Given the description of an element on the screen output the (x, y) to click on. 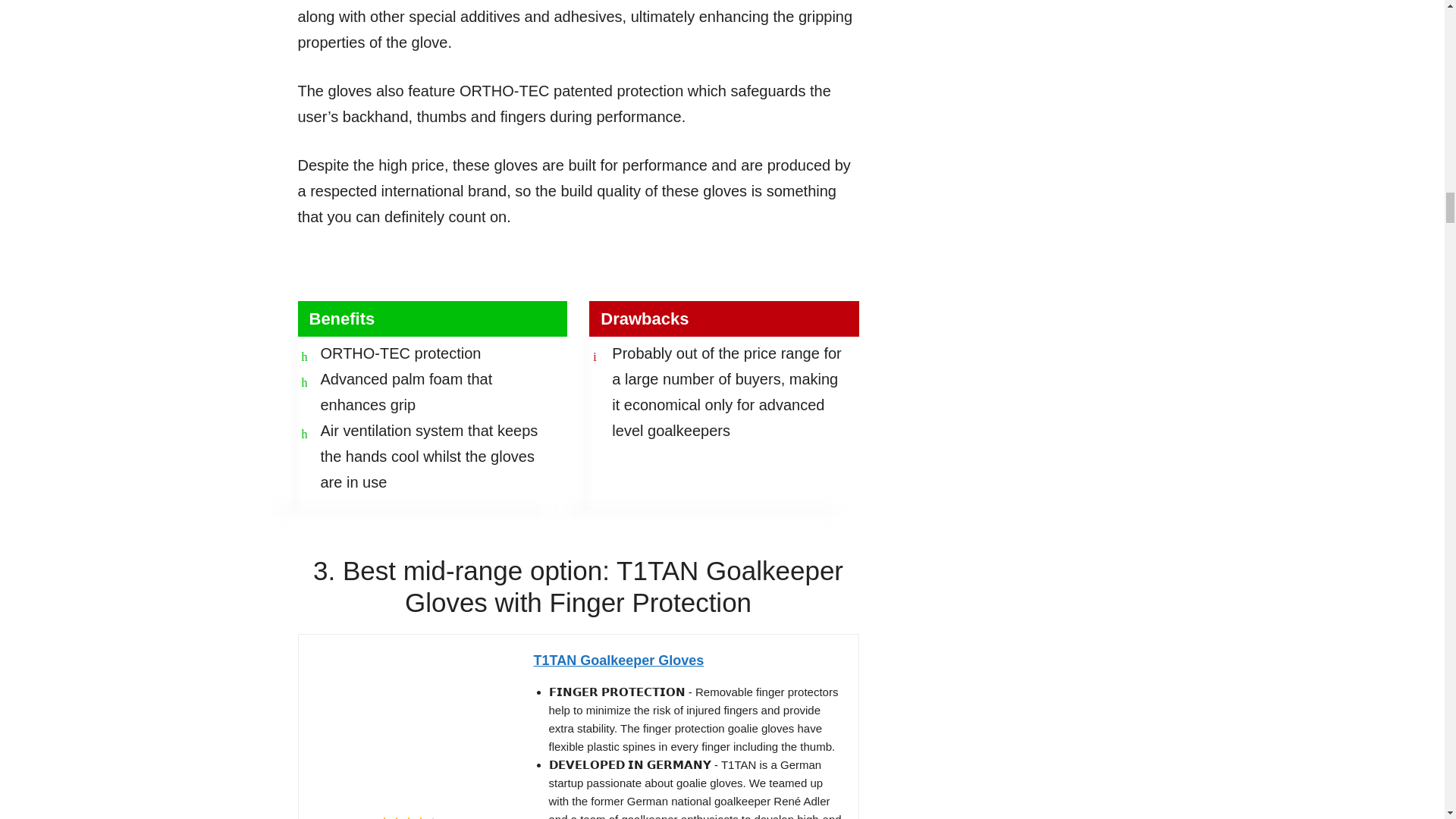
Reviews on Amazon (407, 817)
T1TAN Goalkeeper Gloves (408, 725)
T1TAN Goalkeeper Gloves (688, 660)
